Given the description of an element on the screen output the (x, y) to click on. 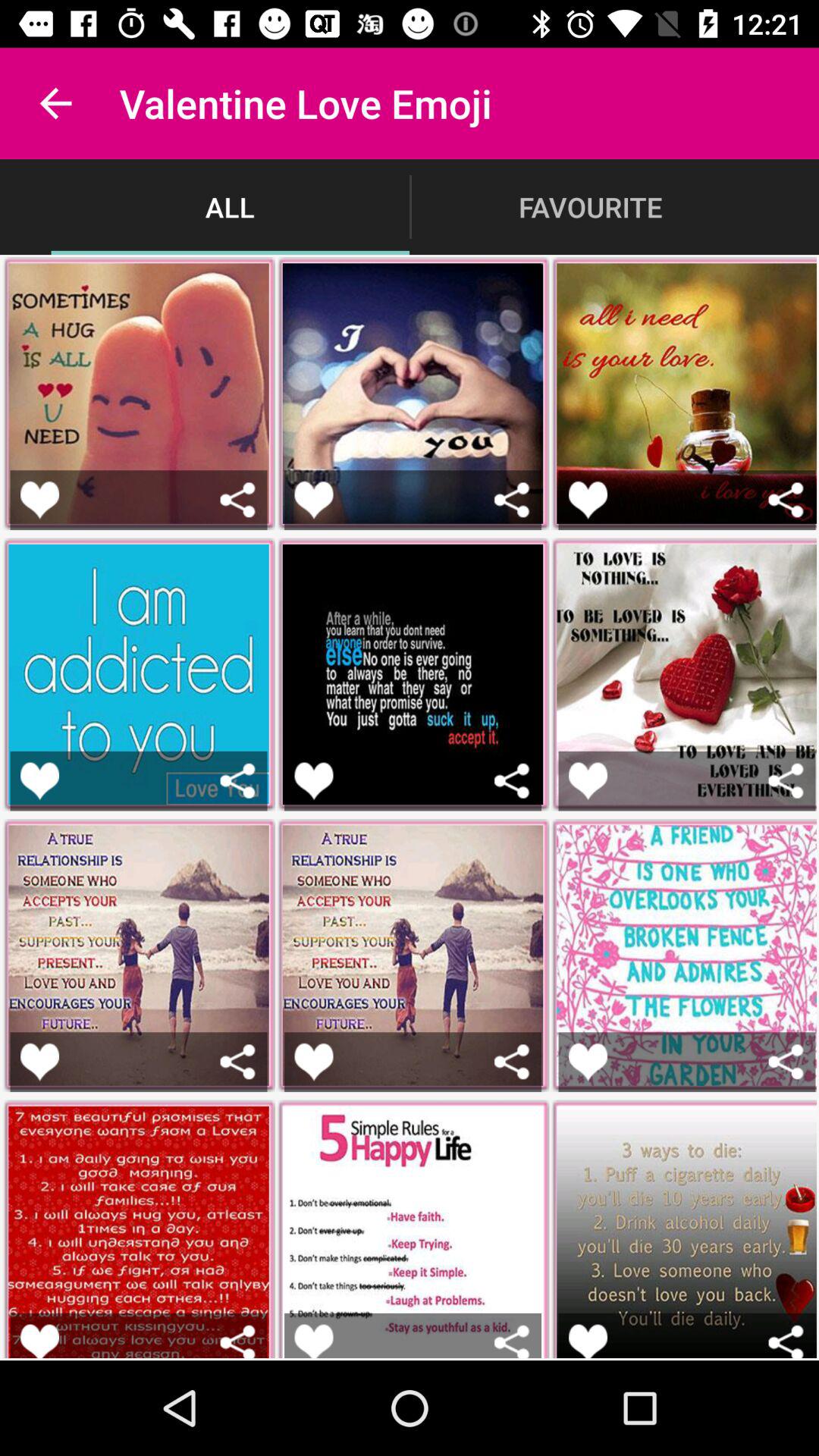
share the picture (785, 1340)
